Given the description of an element on the screen output the (x, y) to click on. 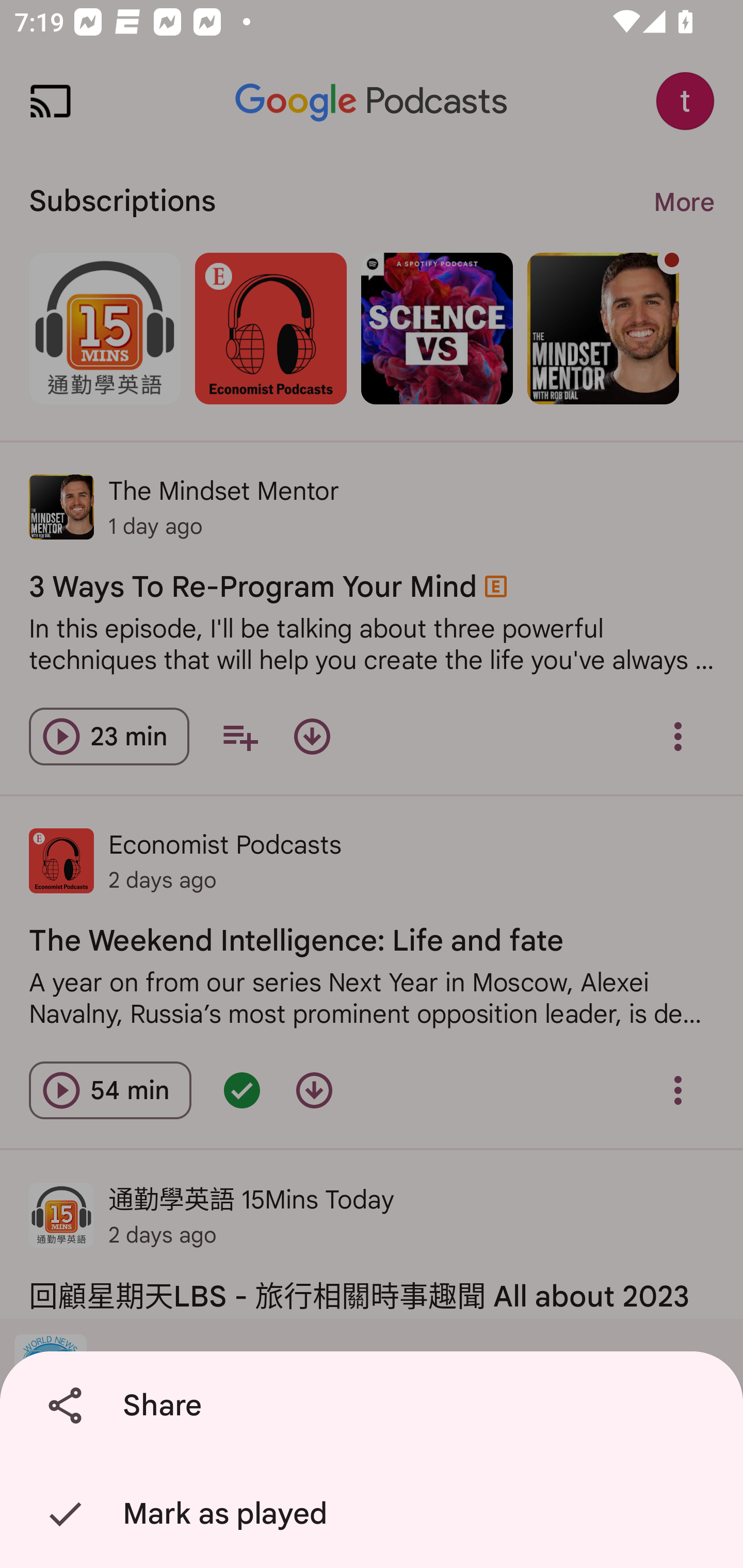
Share (375, 1405)
Mark as played (375, 1513)
